Given the description of an element on the screen output the (x, y) to click on. 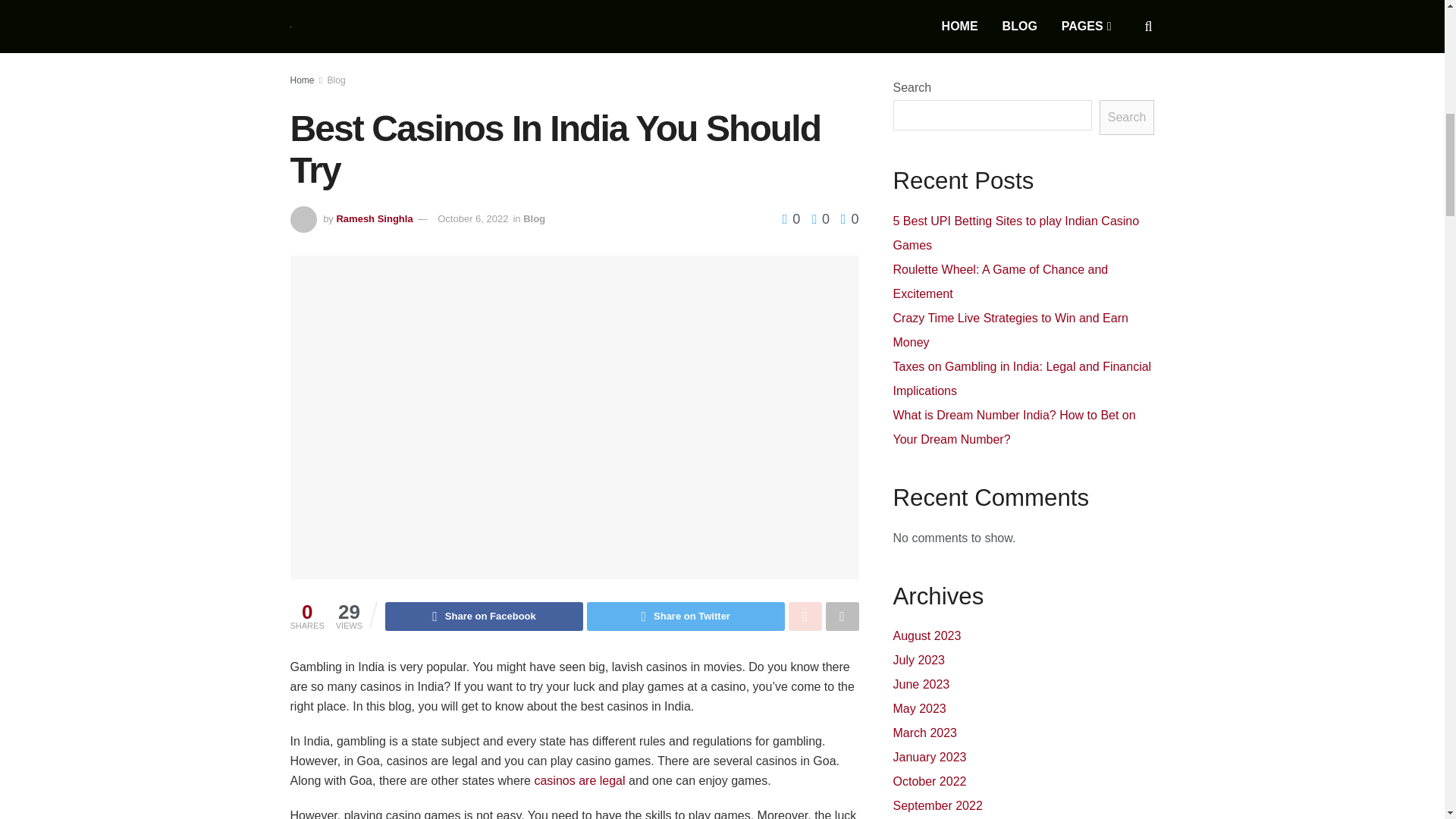
PAGES (1085, 26)
BLOG (1019, 26)
HOME (960, 26)
